Given the description of an element on the screen output the (x, y) to click on. 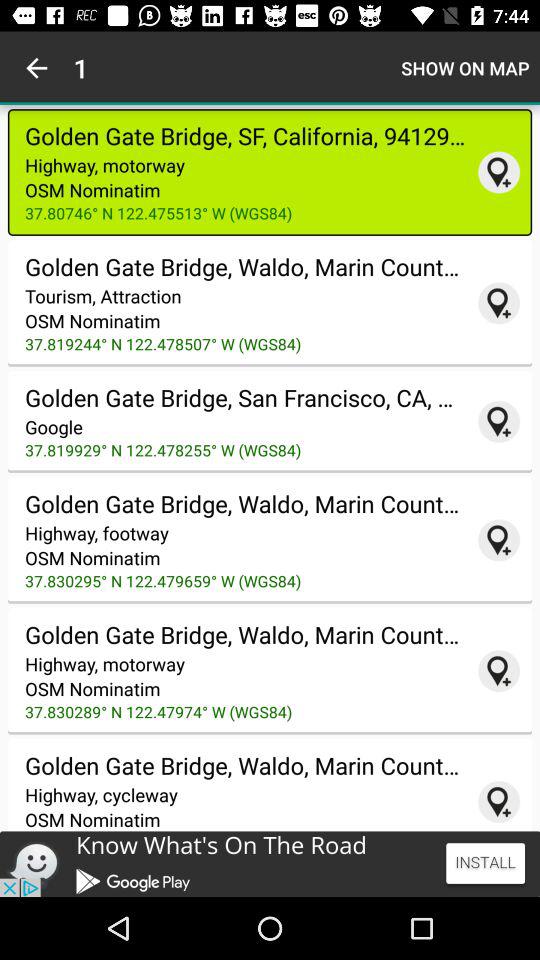
37.830289 n 122.47974 w map app (499, 671)
